Given the description of an element on the screen output the (x, y) to click on. 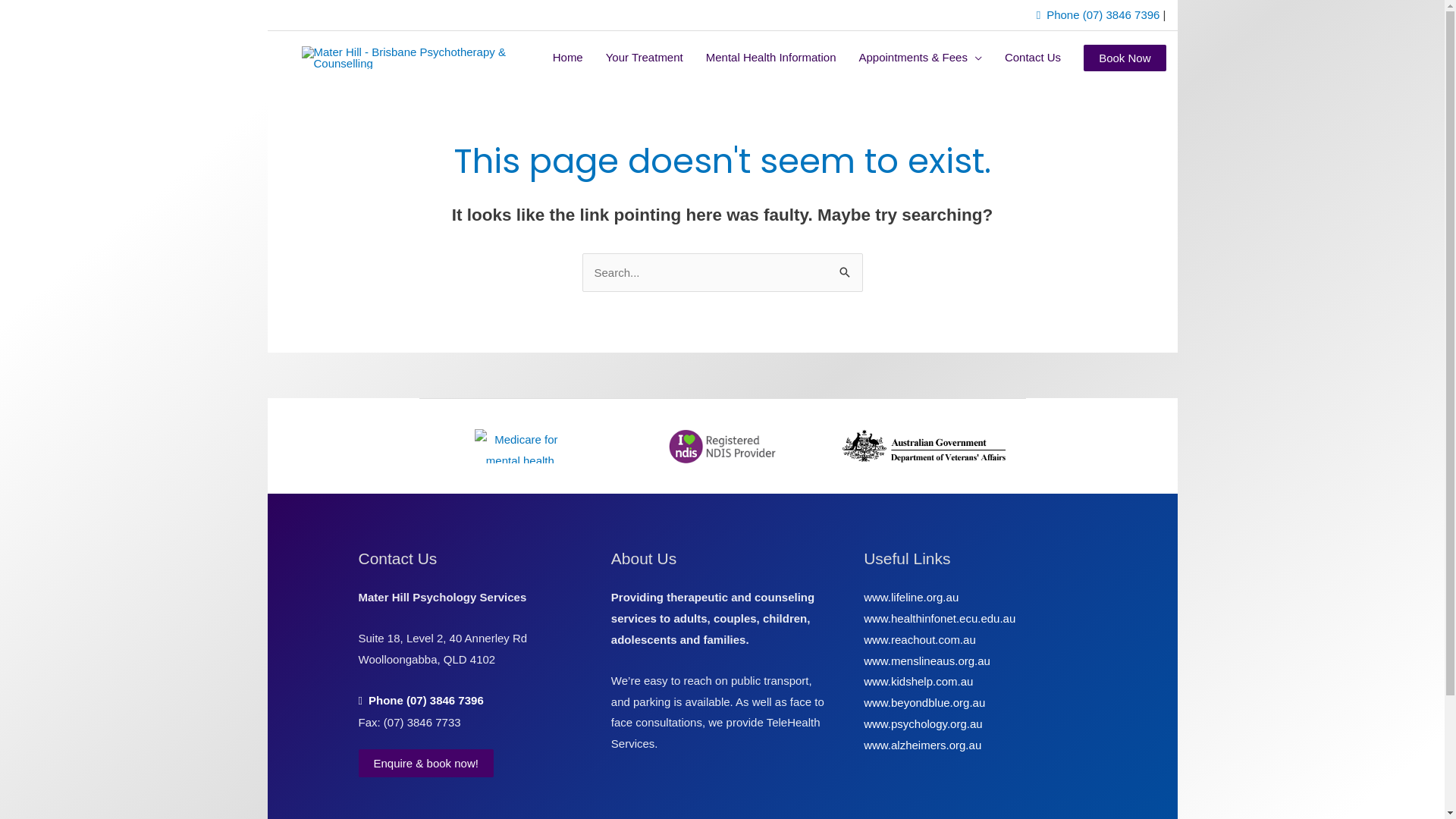
Home Element type: text (567, 57)
Mental Health Information Element type: text (770, 57)
www.reachout.com.au Element type: text (919, 639)
www.psychology.org.au Element type: text (922, 723)
NDIS Registered Provider Element type: hover (721, 446)
Phone (07) 3846 7396 Element type: text (1098, 14)
www.healthinfonet.ecu.edu.au Element type: text (939, 617)
www.menslineaus.org.au Element type: text (926, 659)
Enquire & book now! Element type: text (424, 763)
Phone (07) 3846 7396 Element type: text (420, 699)
www.beyondblue.org.au Element type: text (924, 702)
Appointments & Fees Element type: text (920, 57)
www.kidshelp.com.au Element type: text (917, 680)
www.alzheimers.org.au Element type: text (922, 744)
Book Now Element type: text (1124, 56)
Search Element type: text (845, 268)
Department of Veterans' Affairs Element type: hover (924, 446)
Contact Us Element type: text (1032, 57)
Your Treatment Element type: text (644, 57)
Medicare for mental health treatments Element type: hover (519, 446)
www.lifeline.org.au Element type: text (910, 596)
